Given the description of an element on the screen output the (x, y) to click on. 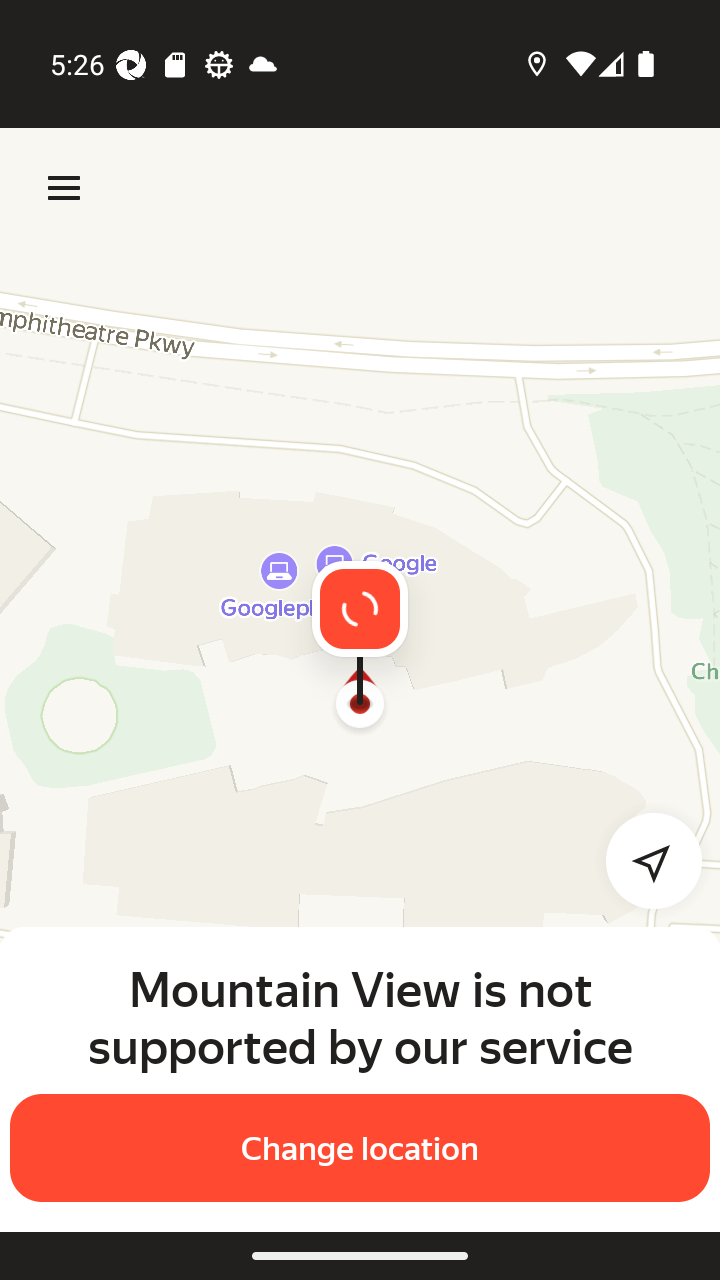
Menu Menu Menu (64, 188)
Detect my location (641, 860)
Mountain View is not supported by our service (360, 1017)
Change location (359, 1147)
